Given the description of an element on the screen output the (x, y) to click on. 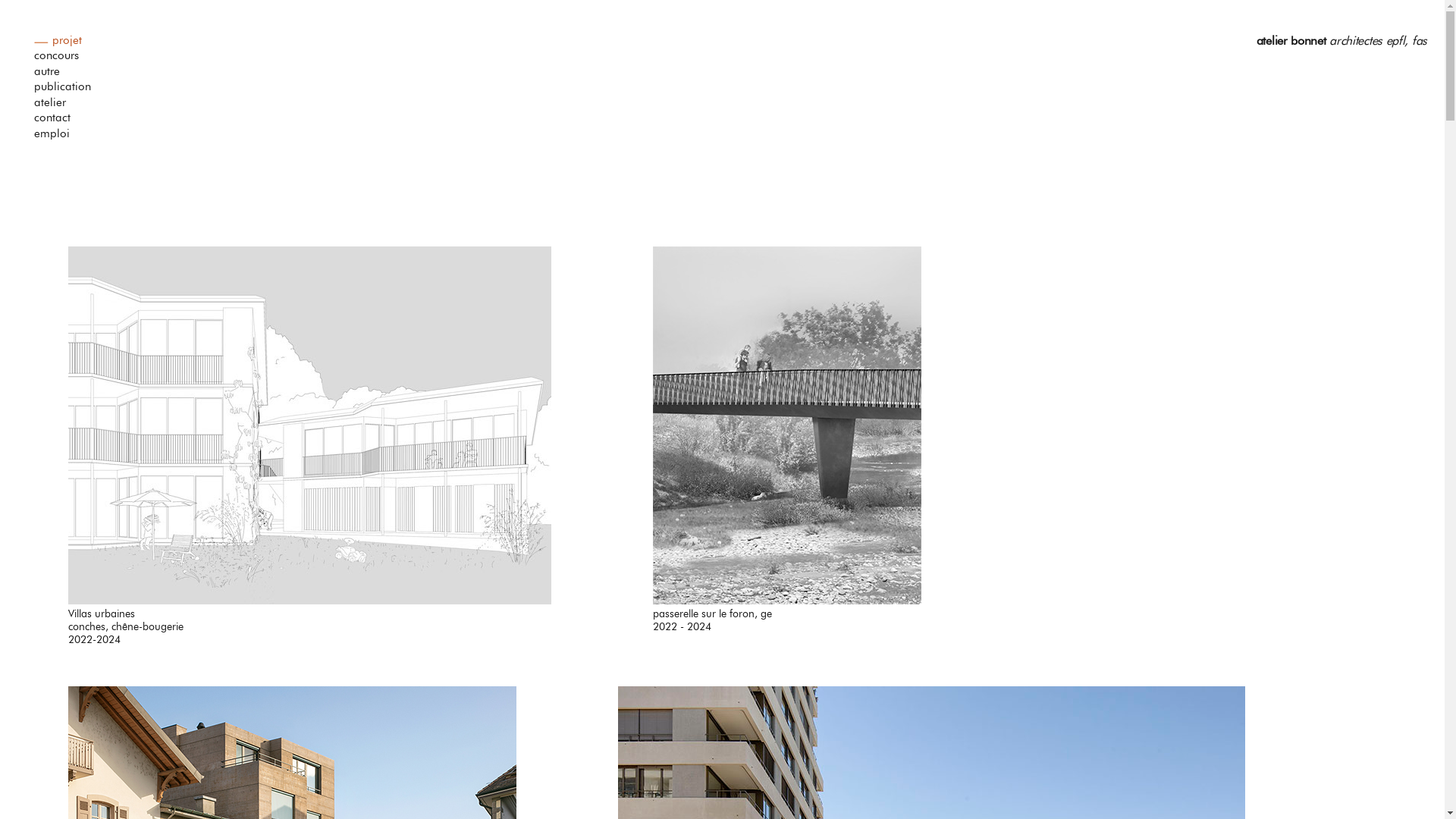
autre Element type: text (71, 72)
concours Element type: text (71, 56)
emploi Element type: text (71, 134)
atelier bonnet Element type: text (1291, 40)
Link to passerelle sur le foron, ge Element type: hover (786, 425)
passerelle sur le foron, ge Element type: text (786, 612)
projet Element type: text (81, 41)
publication Element type: text (71, 87)
contact Element type: text (71, 118)
atelier Element type: text (71, 103)
